Given the description of an element on the screen output the (x, y) to click on. 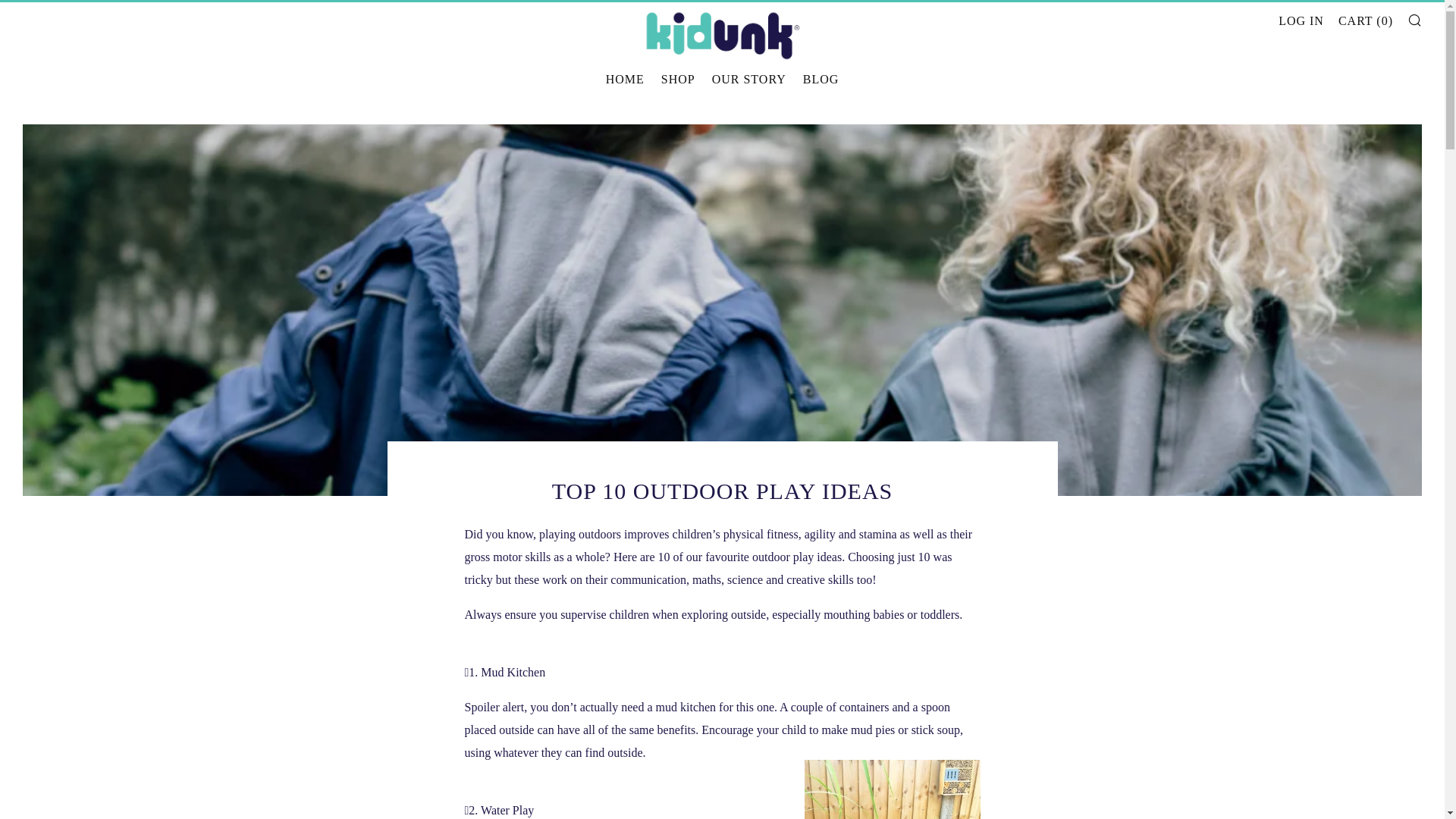
SEARCH (1414, 19)
HOME (625, 78)
OUR STORY (748, 78)
BLOG (821, 78)
SHOP (678, 78)
LOG IN (1300, 21)
